Given the description of an element on the screen output the (x, y) to click on. 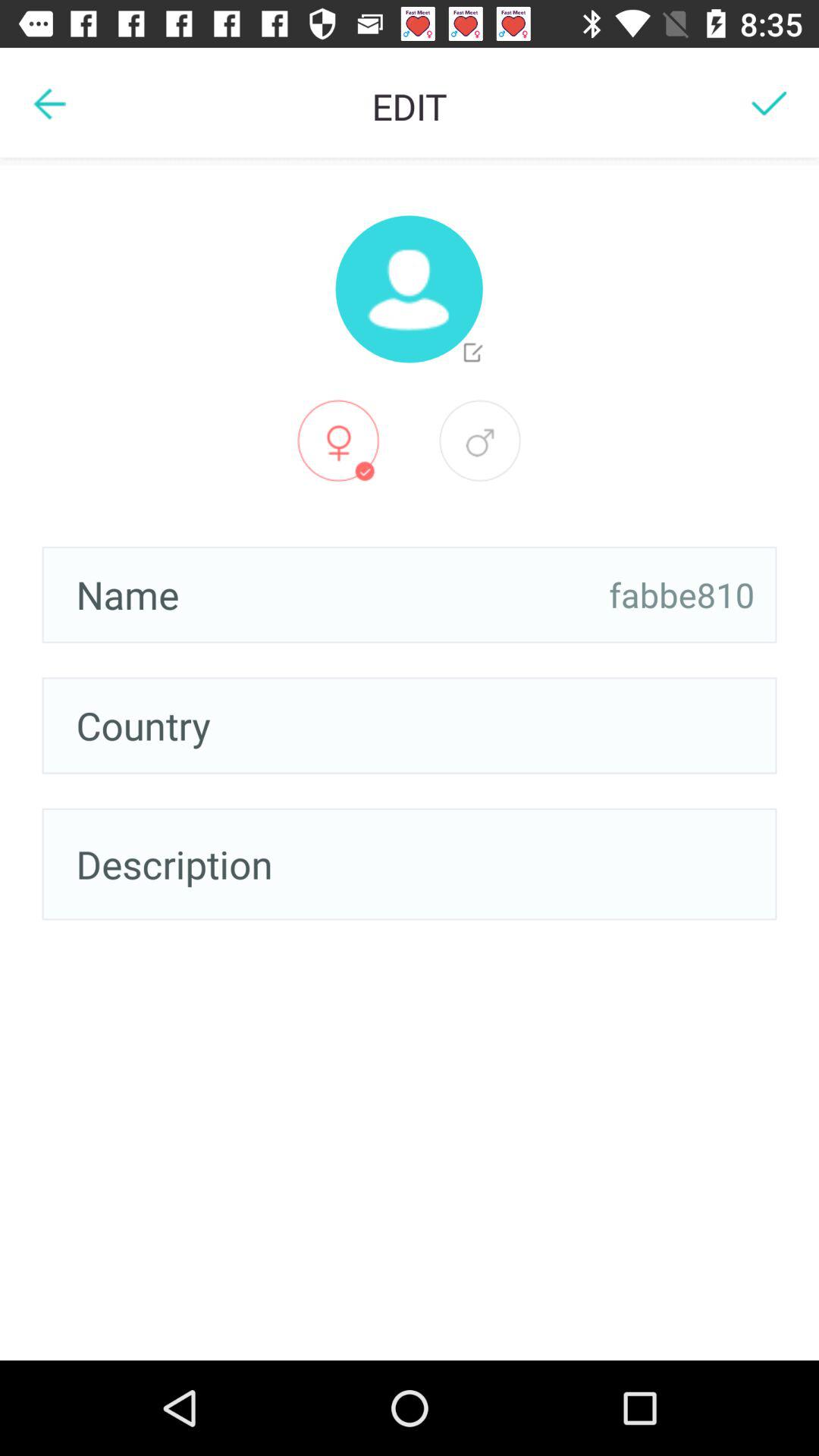
choose the fabbe810 (681, 594)
